Given the description of an element on the screen output the (x, y) to click on. 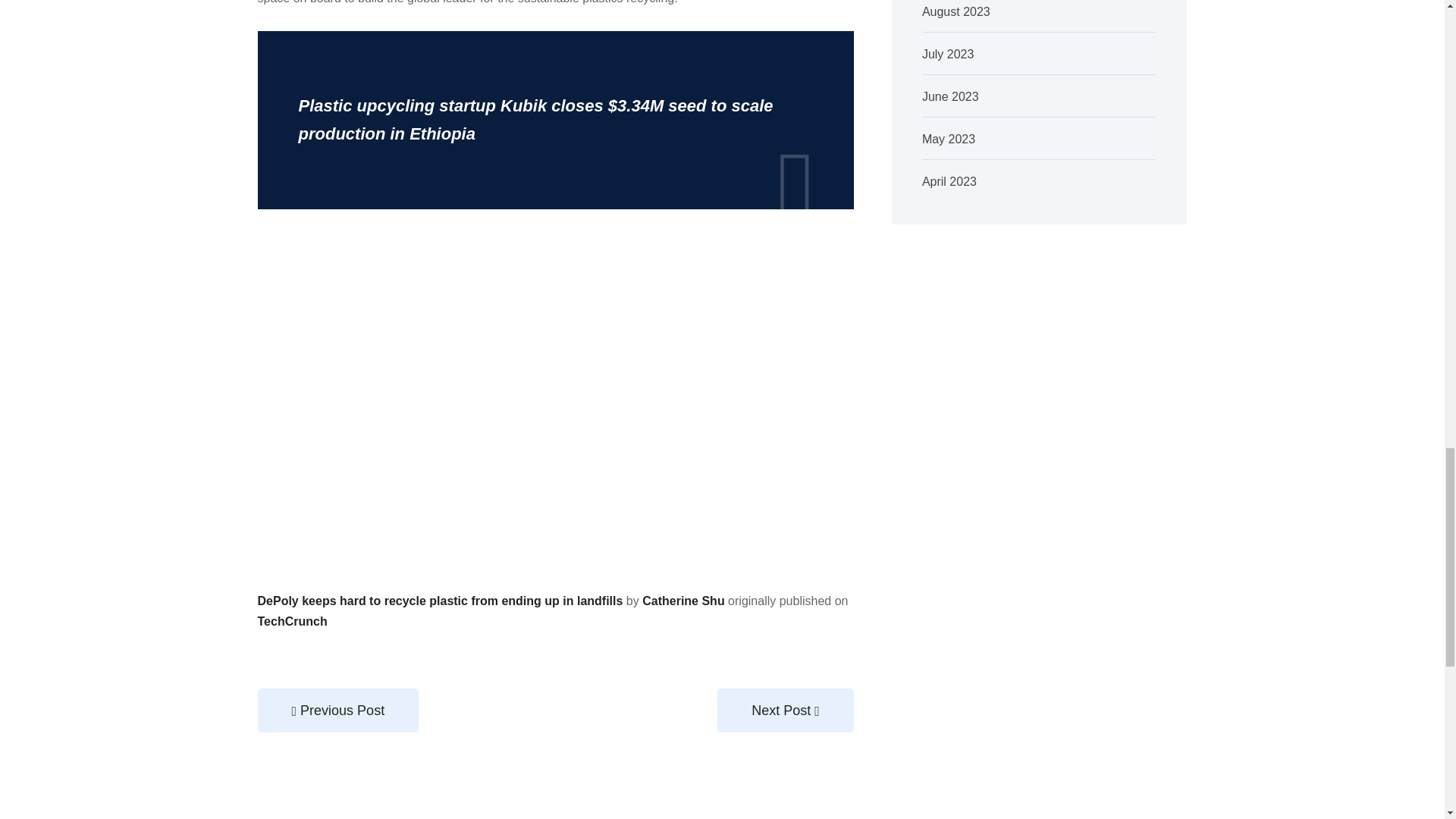
Catherine Shu (682, 600)
TechCrunch (292, 621)
Next Post (785, 710)
Previous Post (338, 710)
